Given the description of an element on the screen output the (x, y) to click on. 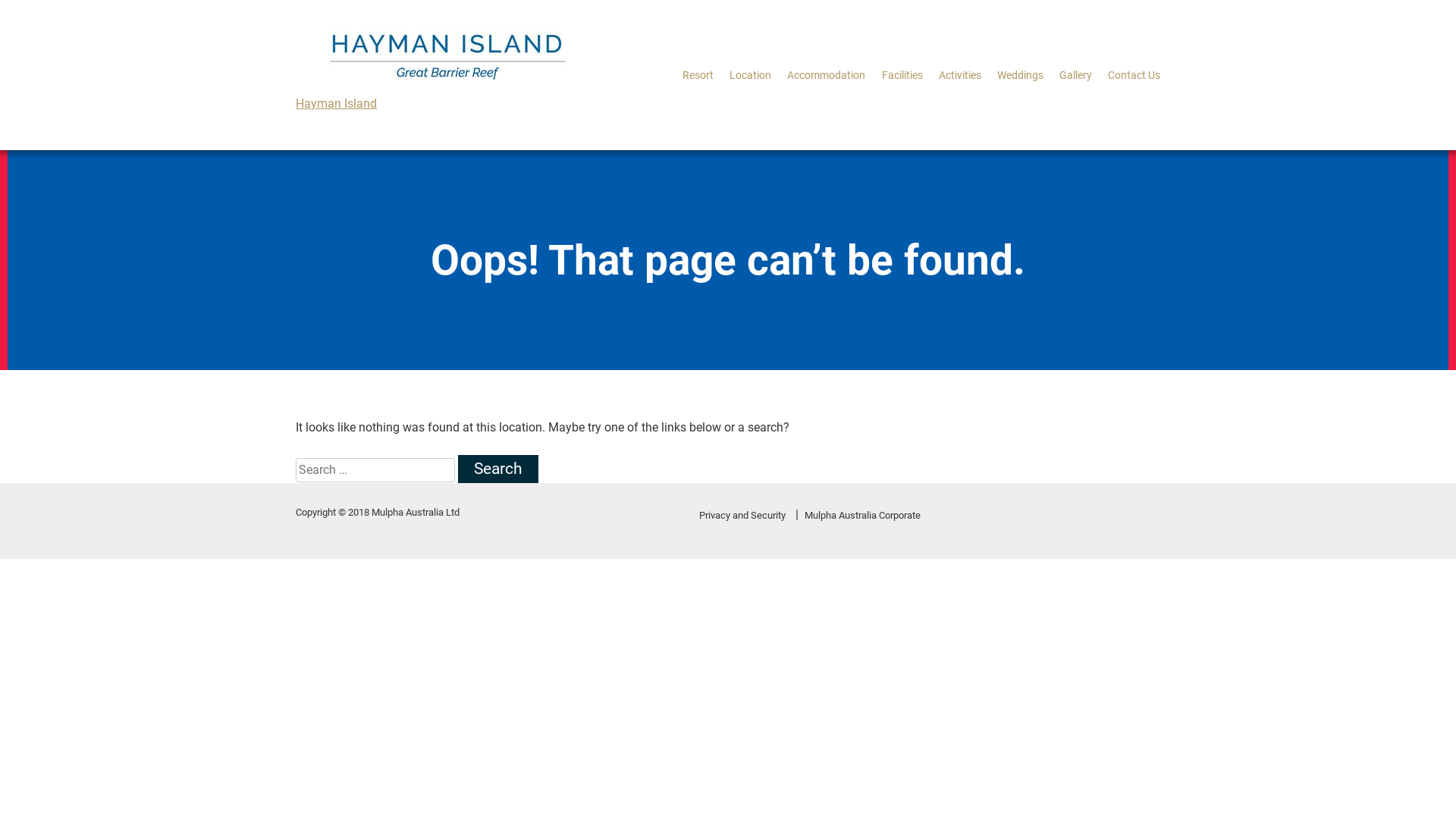
Activities Element type: text (959, 74)
Gallery Element type: text (1075, 74)
Privacy and Security Element type: text (742, 514)
Accommodation Element type: text (826, 74)
Search Element type: text (498, 469)
Weddings Element type: text (1020, 74)
Hayman Island Element type: text (335, 103)
Location Element type: text (750, 74)
Contact Us Element type: text (1133, 74)
Resort Element type: text (697, 74)
Facilities Element type: text (901, 74)
Mulpha Australia Corporate Element type: text (862, 514)
Skip to content Element type: text (0, 0)
